Given the description of an element on the screen output the (x, y) to click on. 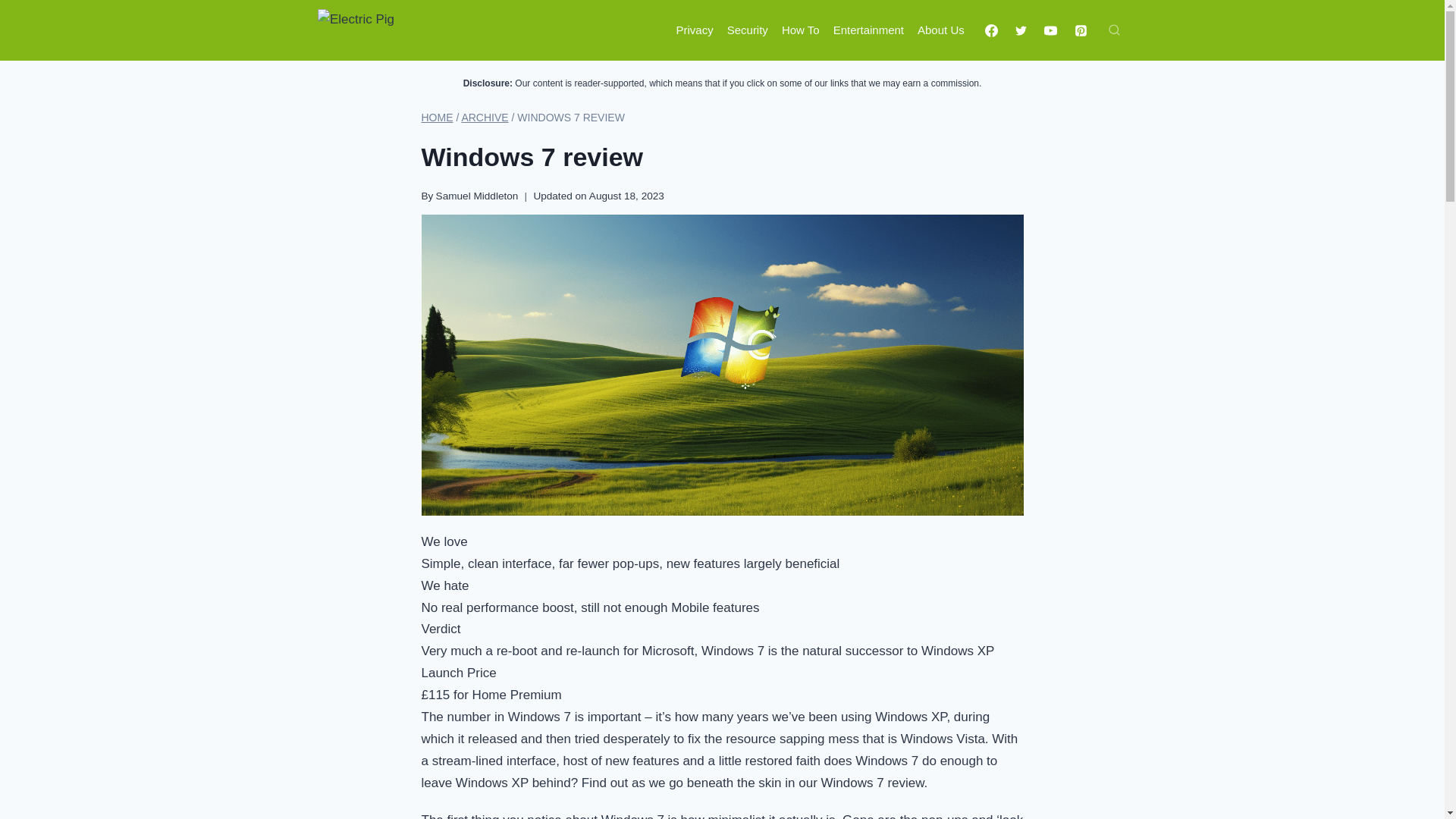
How To (800, 29)
ARCHIVE (484, 117)
Entertainment (869, 29)
Samuel Middleton (476, 195)
HOME (437, 117)
About Us (941, 29)
Security (747, 29)
Privacy (693, 29)
